Given the description of an element on the screen output the (x, y) to click on. 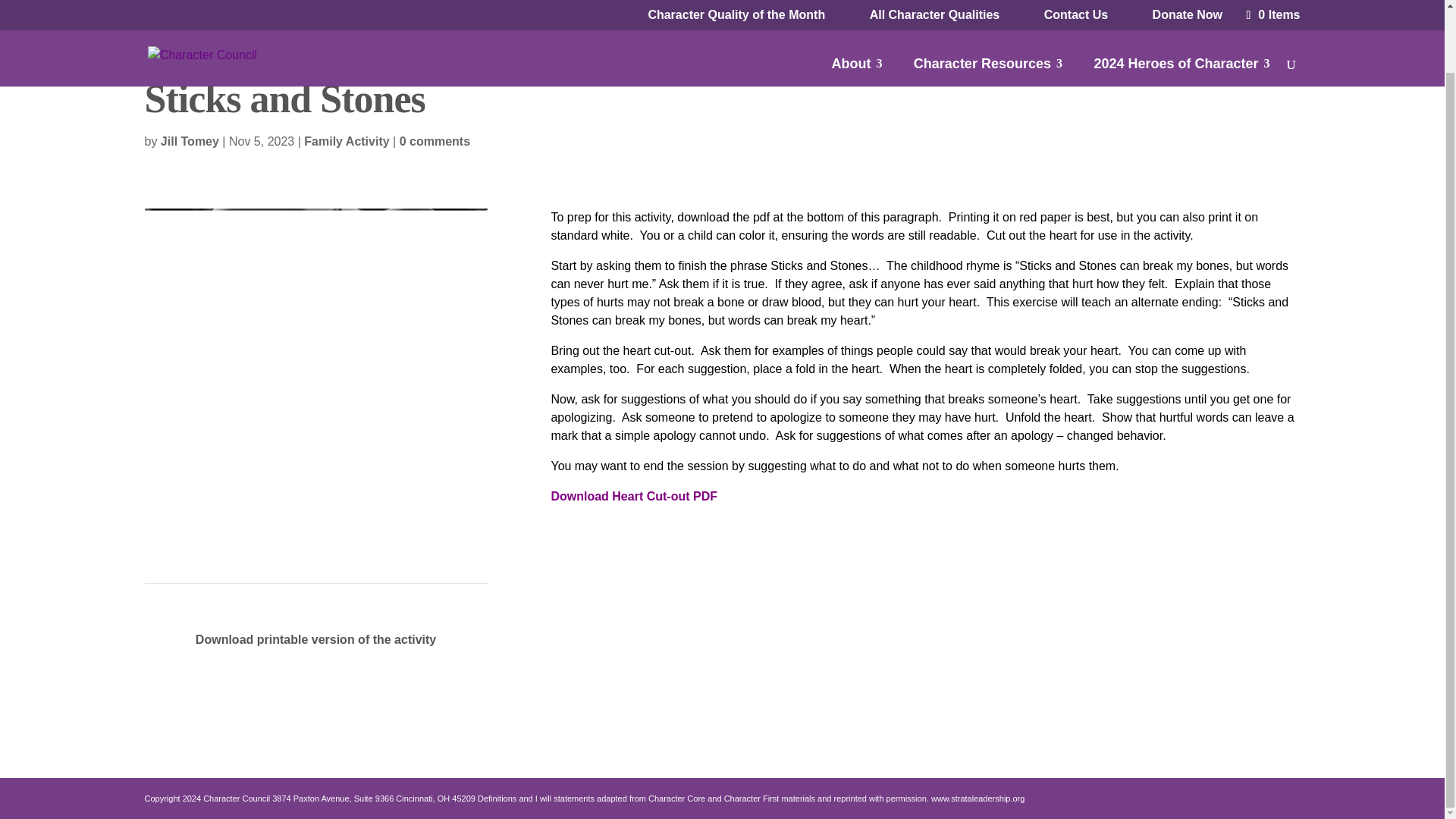
2024 Heroes of Character (1181, 7)
Family Activity (346, 141)
Character Resources (988, 7)
0 comments (434, 141)
Jill Tomey (189, 141)
About (856, 7)
Download Heart Cut-out PDF (633, 495)
Posts by Jill Tomey (189, 141)
Download printable version of the activity (315, 639)
